Given the description of an element on the screen output the (x, y) to click on. 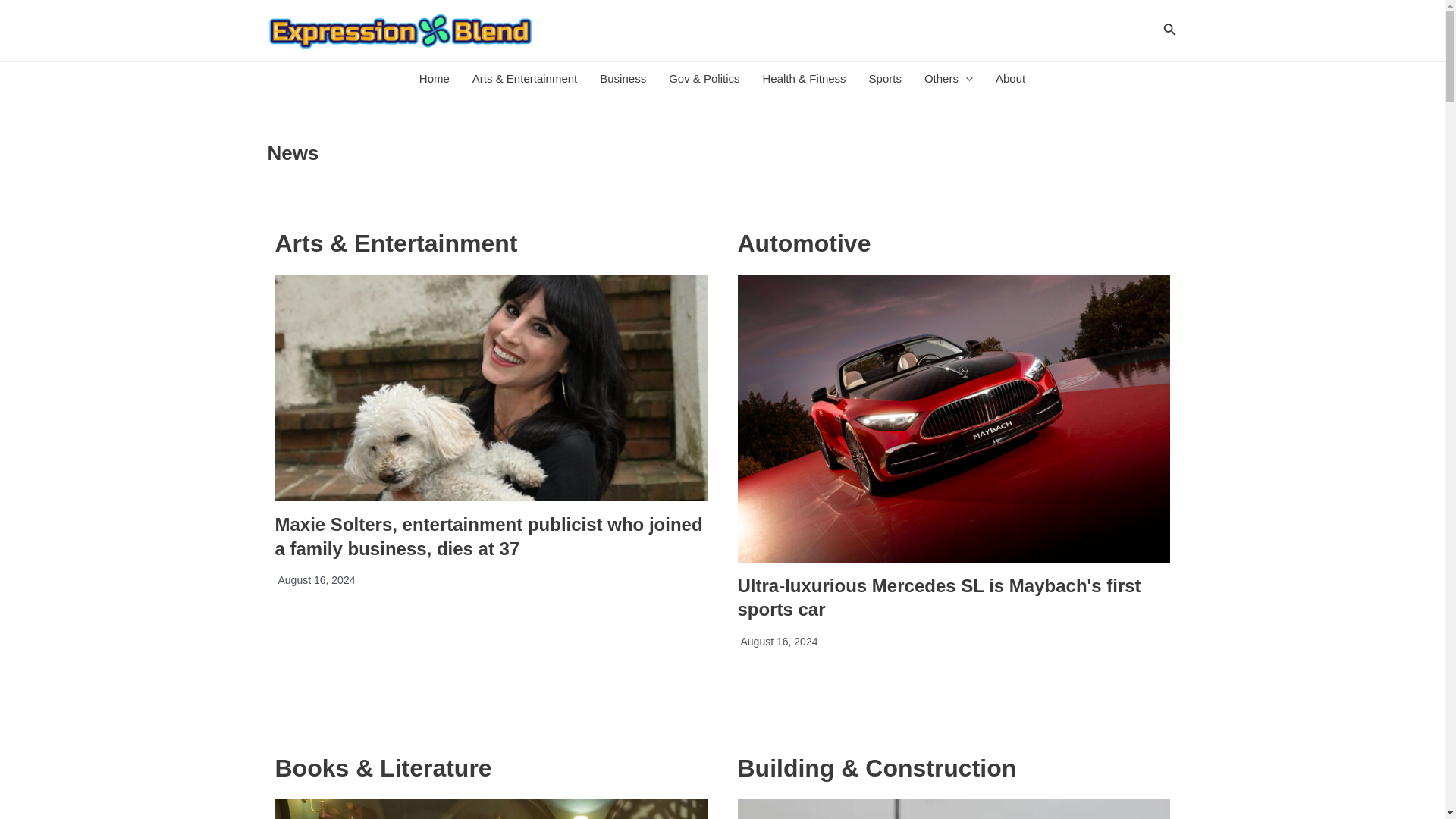
Business (623, 78)
Sports (884, 78)
About (1010, 78)
Home (434, 78)
Others (948, 78)
